Given the description of an element on the screen output the (x, y) to click on. 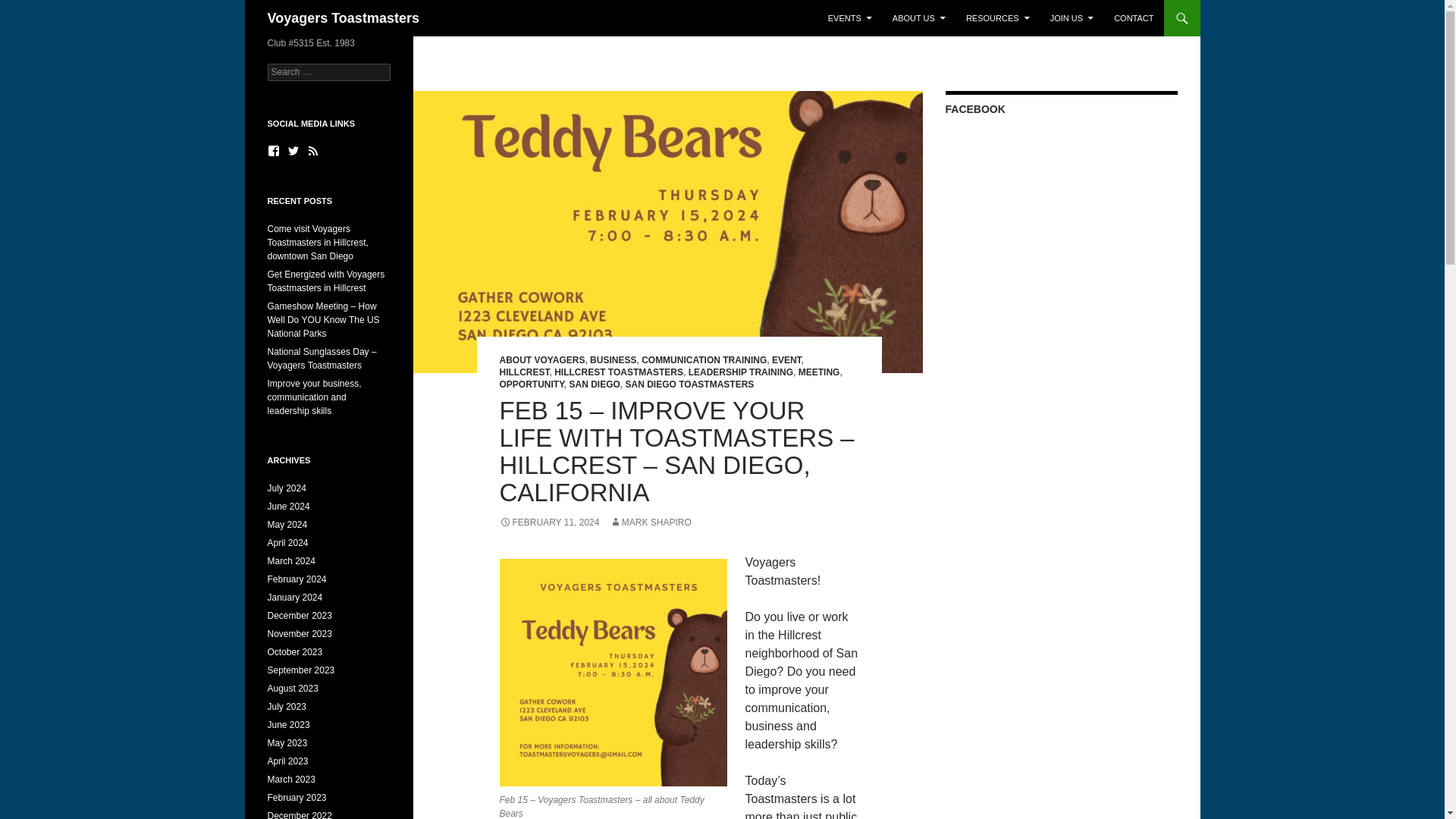
EVENT (786, 359)
HILLCREST TOASTMASTERS (618, 371)
BUSINESS (612, 359)
ABOUT US (919, 18)
EVENTS (849, 18)
LEADERSHIP TRAINING (740, 371)
RESOURCES (997, 18)
OPPORTUNITY (531, 384)
MEETING (818, 371)
CONTACT (1133, 18)
JOIN US (1071, 18)
HILLCREST (523, 371)
Voyagers Toastmasters (342, 18)
MARK SHAPIRO (650, 521)
